Given the description of an element on the screen output the (x, y) to click on. 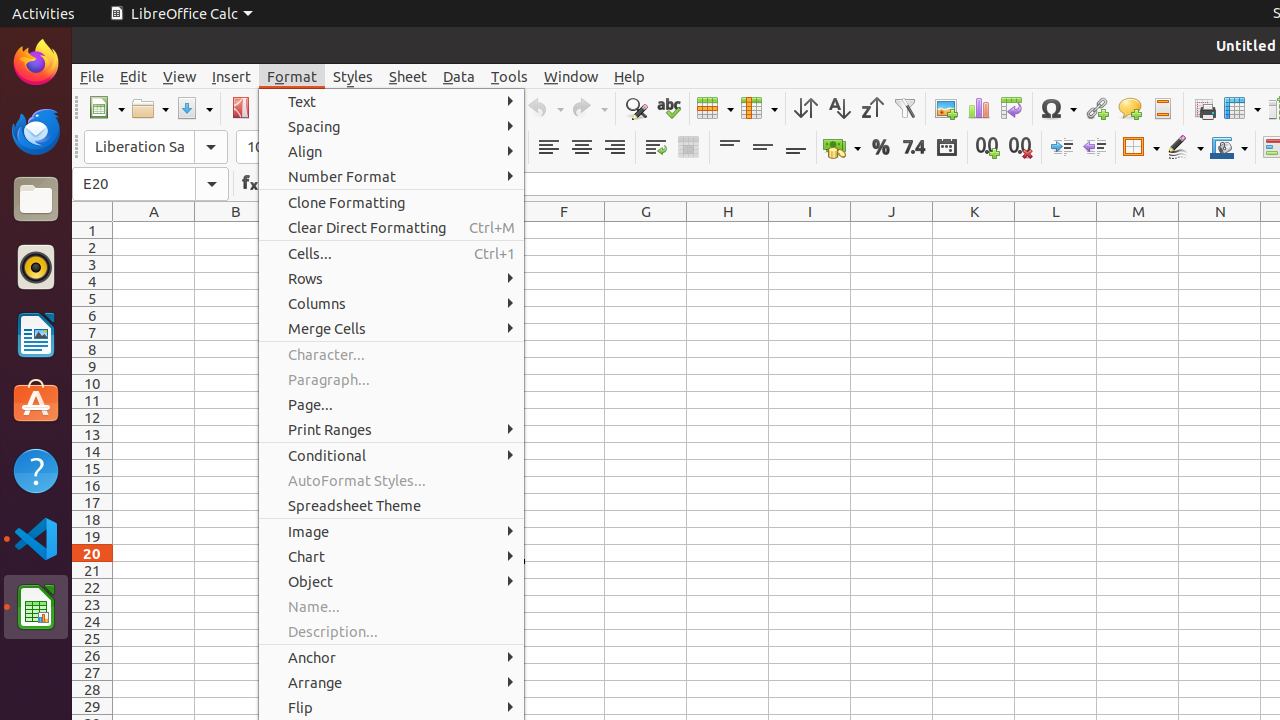
Flip Element type: menu (391, 707)
Align Center Element type: push-button (581, 147)
Increase Element type: push-button (1061, 147)
I1 Element type: table-cell (810, 230)
Clear Direct Formatting Element type: menu-item (391, 227)
